Given the description of an element on the screen output the (x, y) to click on. 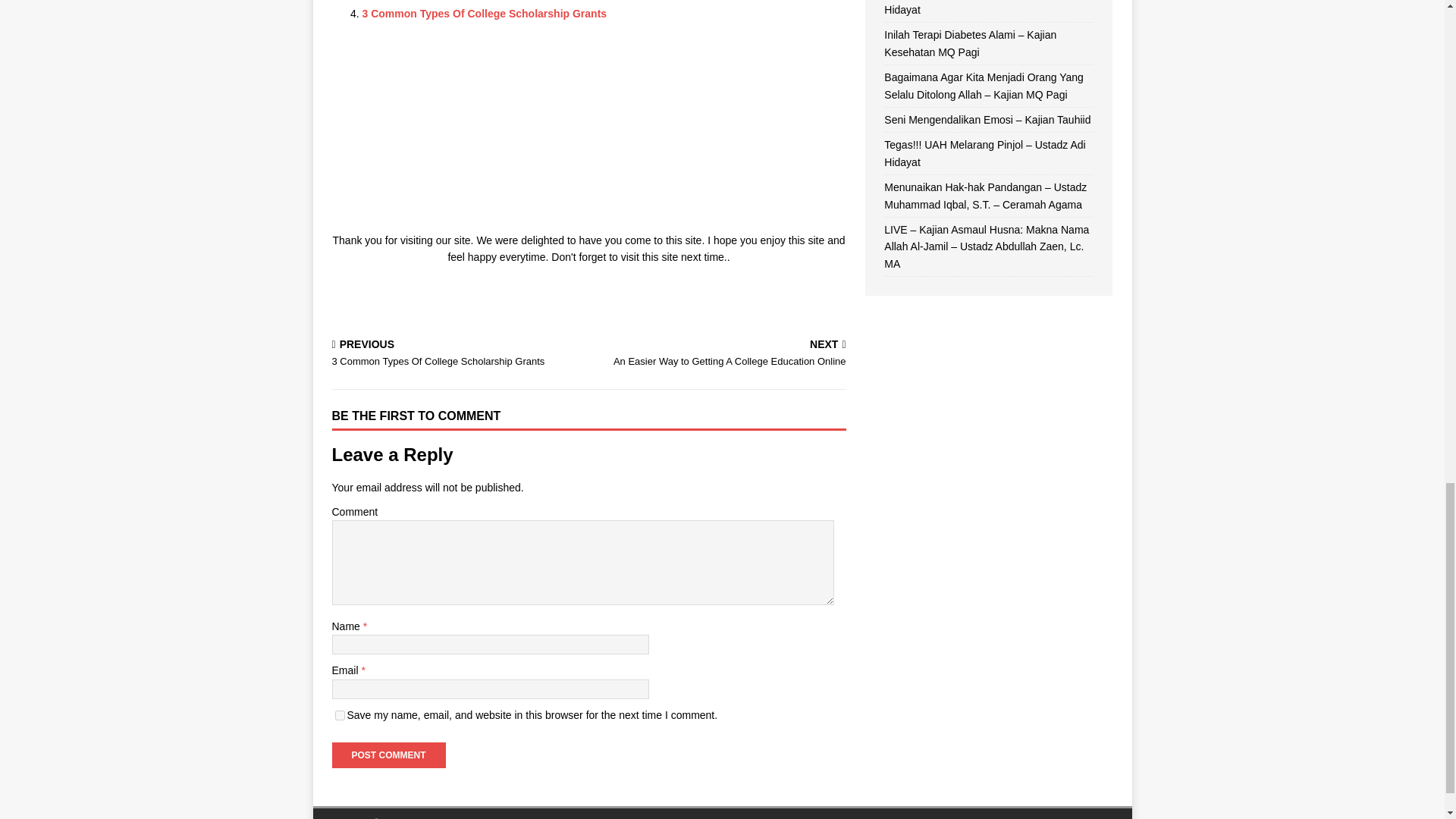
3 Common Types Of College Scholarship Grants (484, 13)
3 Common Types Of College Scholarship Grants (720, 354)
Post Comment (484, 13)
yes (457, 354)
Post Comment (388, 755)
